Given the description of an element on the screen output the (x, y) to click on. 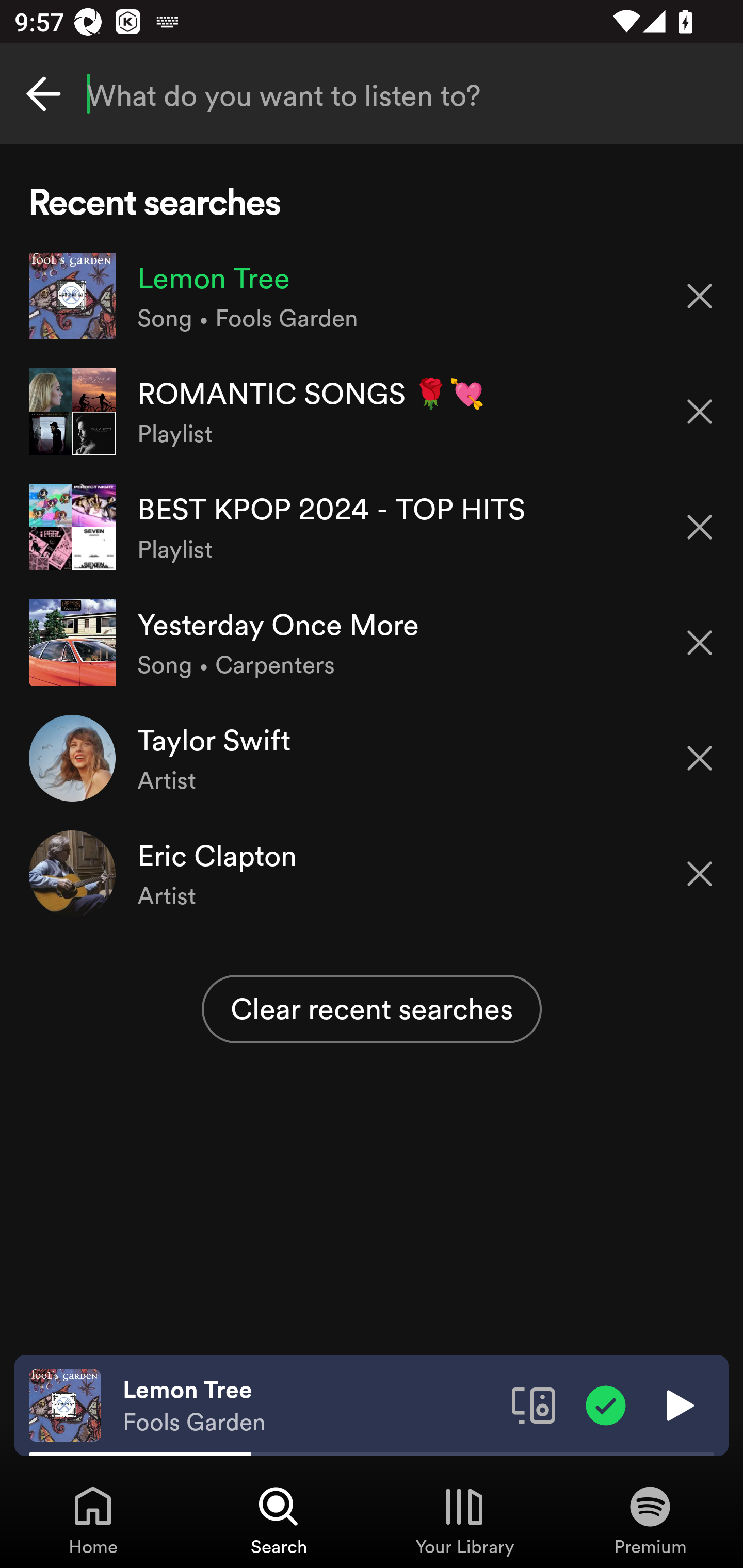
What do you want to listen to? (371, 93)
Cancel (43, 93)
Lemon Tree Song • Fools Garden Remove (371, 296)
Remove (699, 295)
ROMANTIC SONGS 🌹💘 Playlist Remove (371, 411)
Remove (699, 411)
BEST KPOP 2024 - TOP HITS Playlist Remove (371, 526)
Remove (699, 527)
Yesterday Once More Song • Carpenters Remove (371, 642)
Remove (699, 642)
Taylor Swift Artist Remove (371, 757)
Remove (699, 758)
Eric Clapton Artist Remove (371, 873)
Remove (699, 874)
Clear recent searches (371, 1008)
Lemon Tree Fools Garden (309, 1405)
The cover art of the currently playing track (64, 1404)
Connect to a device. Opens the devices menu (533, 1404)
Item added (605, 1404)
Play (677, 1404)
Home, Tab 1 of 4 Home Home (92, 1519)
Search, Tab 2 of 4 Search Search (278, 1519)
Your Library, Tab 3 of 4 Your Library Your Library (464, 1519)
Premium, Tab 4 of 4 Premium Premium (650, 1519)
